Given the description of an element on the screen output the (x, y) to click on. 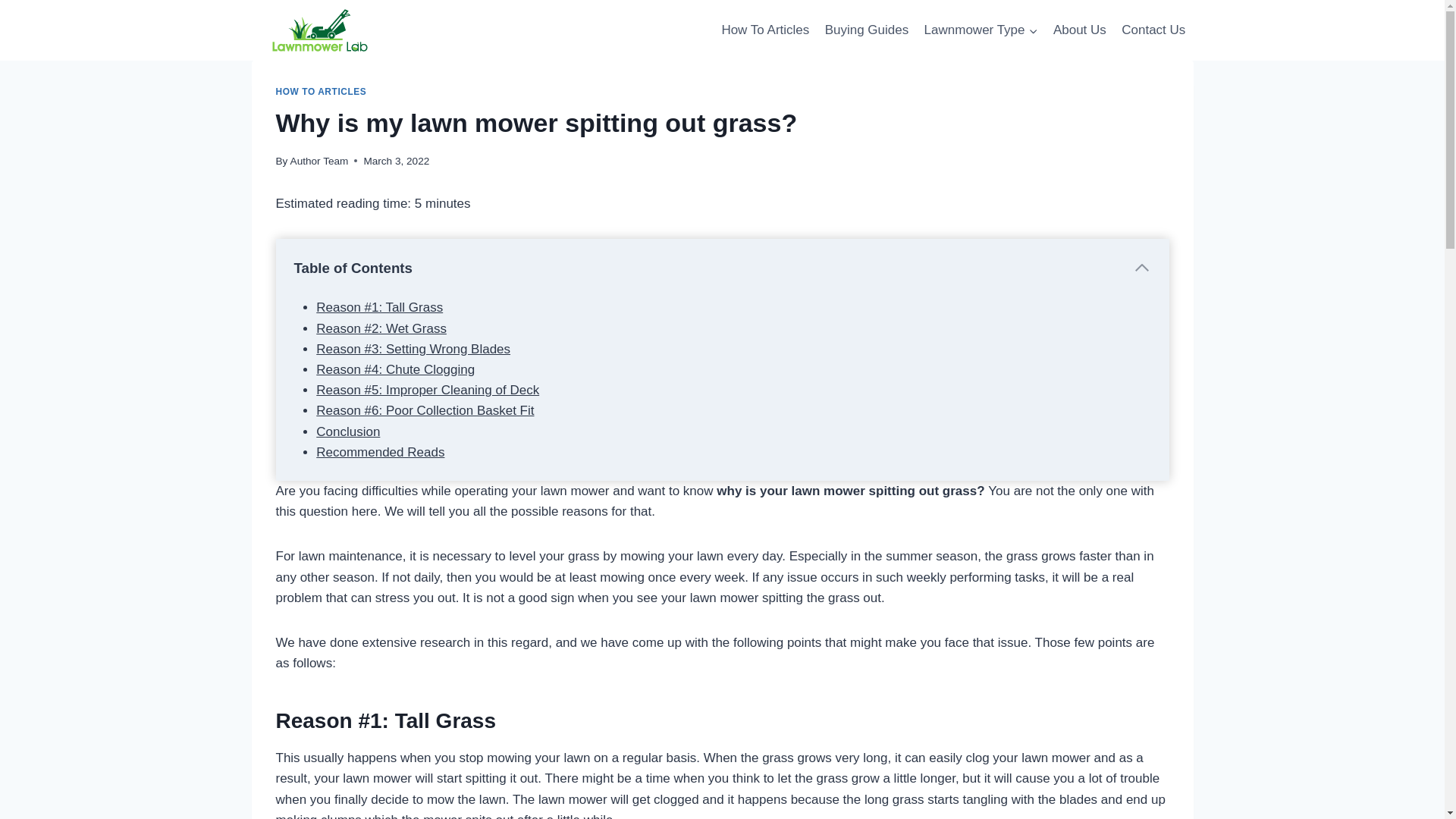
Recommended Reads (379, 452)
Buying Guides (865, 30)
How To Articles (764, 30)
Lawnmower Type (980, 30)
Author Team (319, 161)
Conclusion (347, 431)
About Us (1079, 30)
Contact Us (1152, 30)
HOW TO ARTICLES (321, 91)
